Given the description of an element on the screen output the (x, y) to click on. 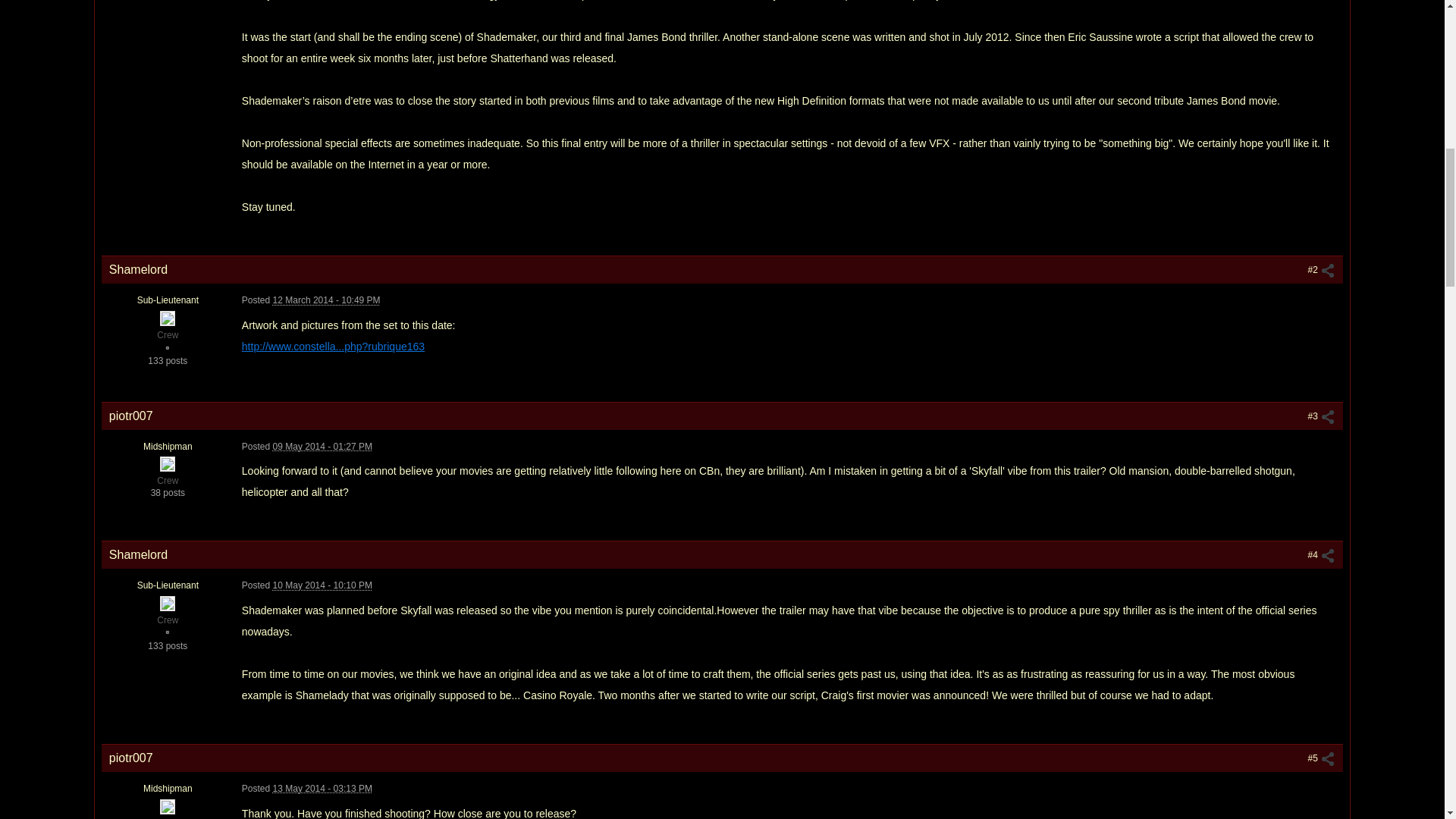
External link (333, 346)
